Given the description of an element on the screen output the (x, y) to click on. 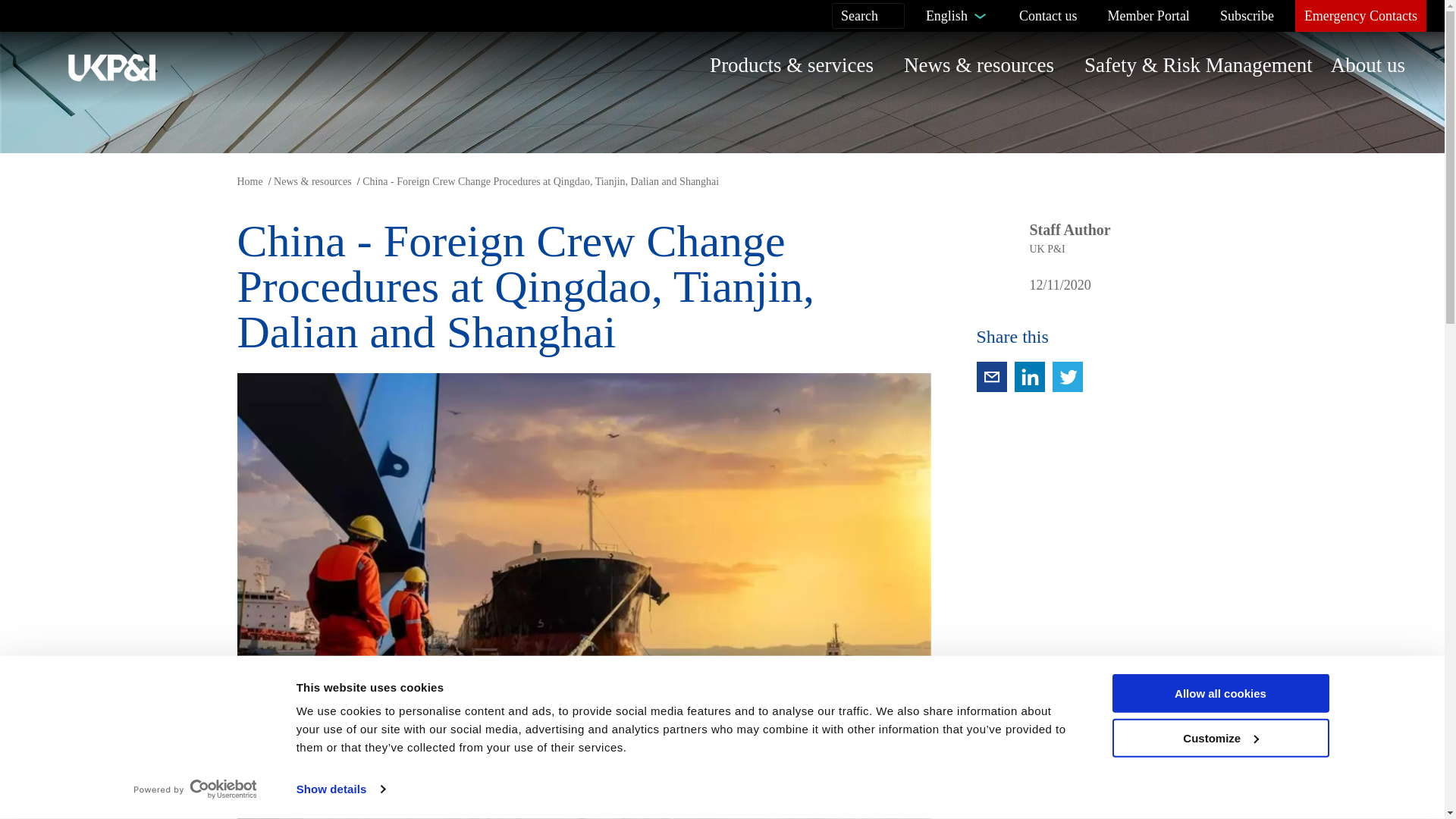
Customize (1219, 738)
Show details (340, 789)
Allow all cookies (1219, 693)
